Given the description of an element on the screen output the (x, y) to click on. 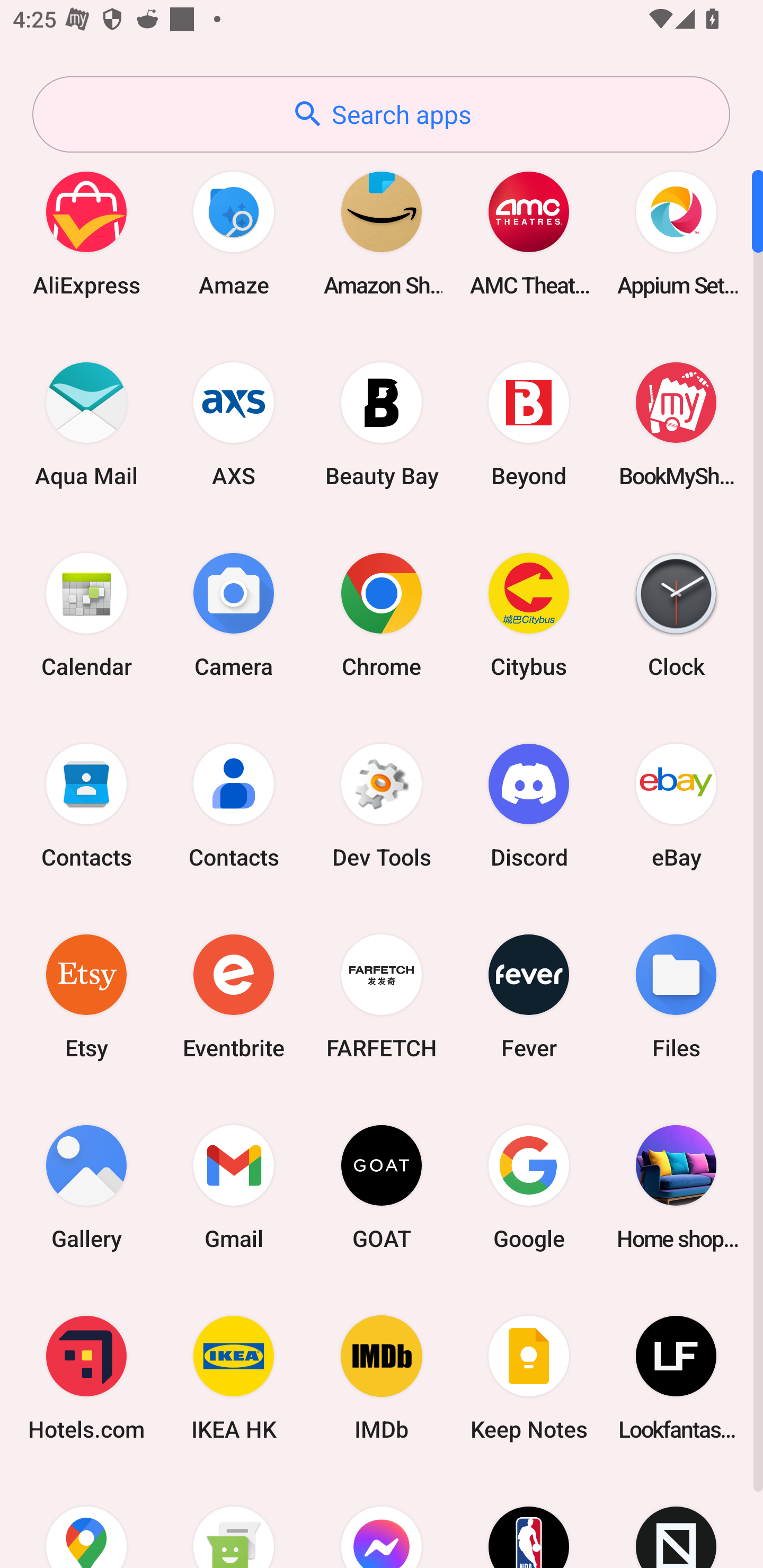
  Search apps (381, 114)
AliExpress (86, 233)
Amaze (233, 233)
Amazon Shopping (381, 233)
AMC Theatres (528, 233)
Appium Settings (676, 233)
Aqua Mail (86, 424)
AXS (233, 424)
Beauty Bay (381, 424)
Beyond (528, 424)
BookMyShow (676, 424)
Calendar (86, 614)
Camera (233, 614)
Chrome (381, 614)
Citybus (528, 614)
Clock (676, 614)
Contacts (86, 805)
Contacts (233, 805)
Dev Tools (381, 805)
Discord (528, 805)
eBay (676, 805)
Etsy (86, 996)
Eventbrite (233, 996)
FARFETCH (381, 996)
Fever (528, 996)
Files (676, 996)
Gallery (86, 1186)
Gmail (233, 1186)
GOAT (381, 1186)
Google (528, 1186)
Home shopping (676, 1186)
Hotels.com (86, 1377)
IKEA HK (233, 1377)
IMDb (381, 1377)
Keep Notes (528, 1377)
Lookfantastic (676, 1377)
